Given the description of an element on the screen output the (x, y) to click on. 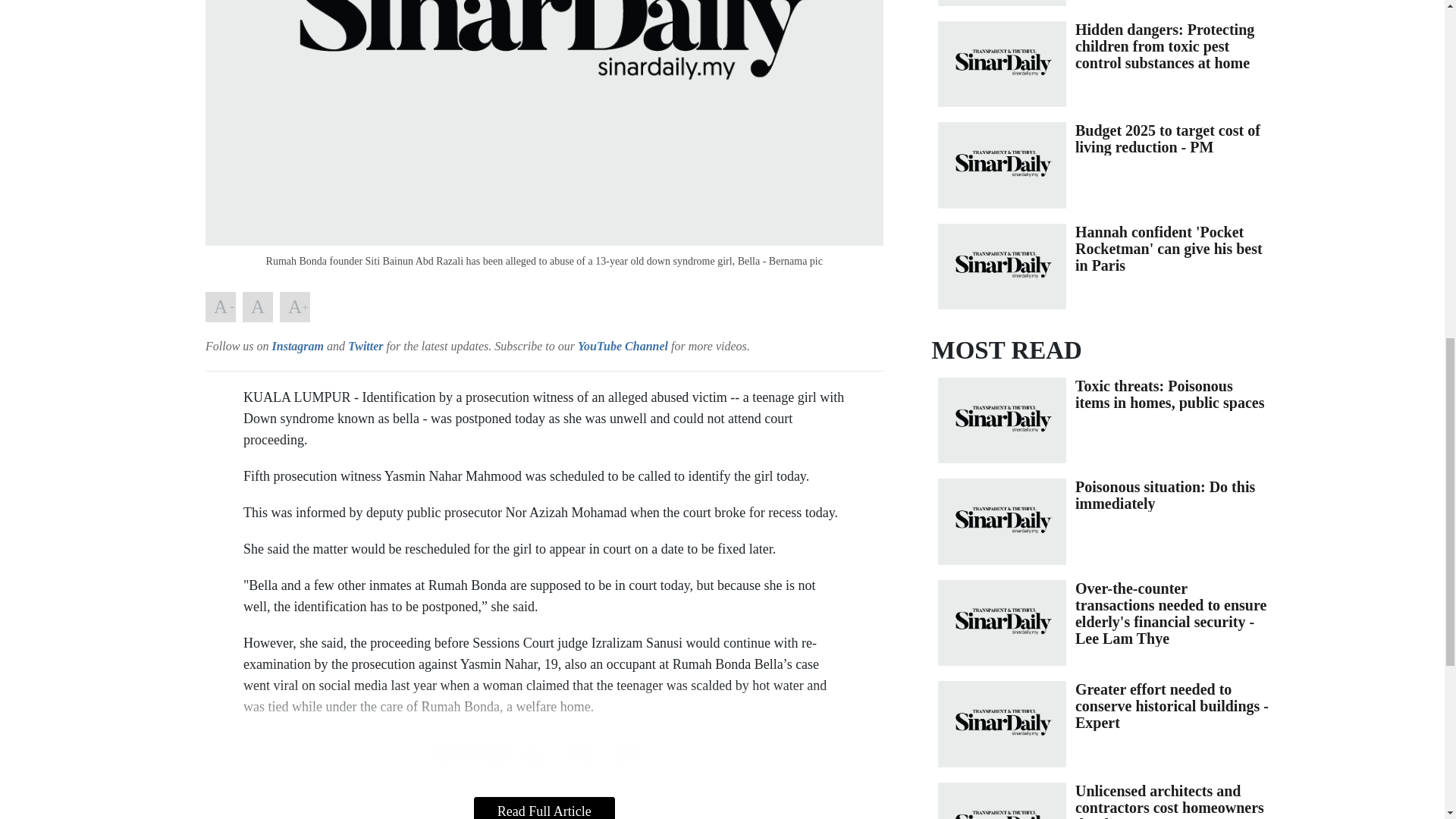
Teks Besar (294, 306)
Teks Asal (258, 306)
Teks Kecil (220, 306)
